Given the description of an element on the screen output the (x, y) to click on. 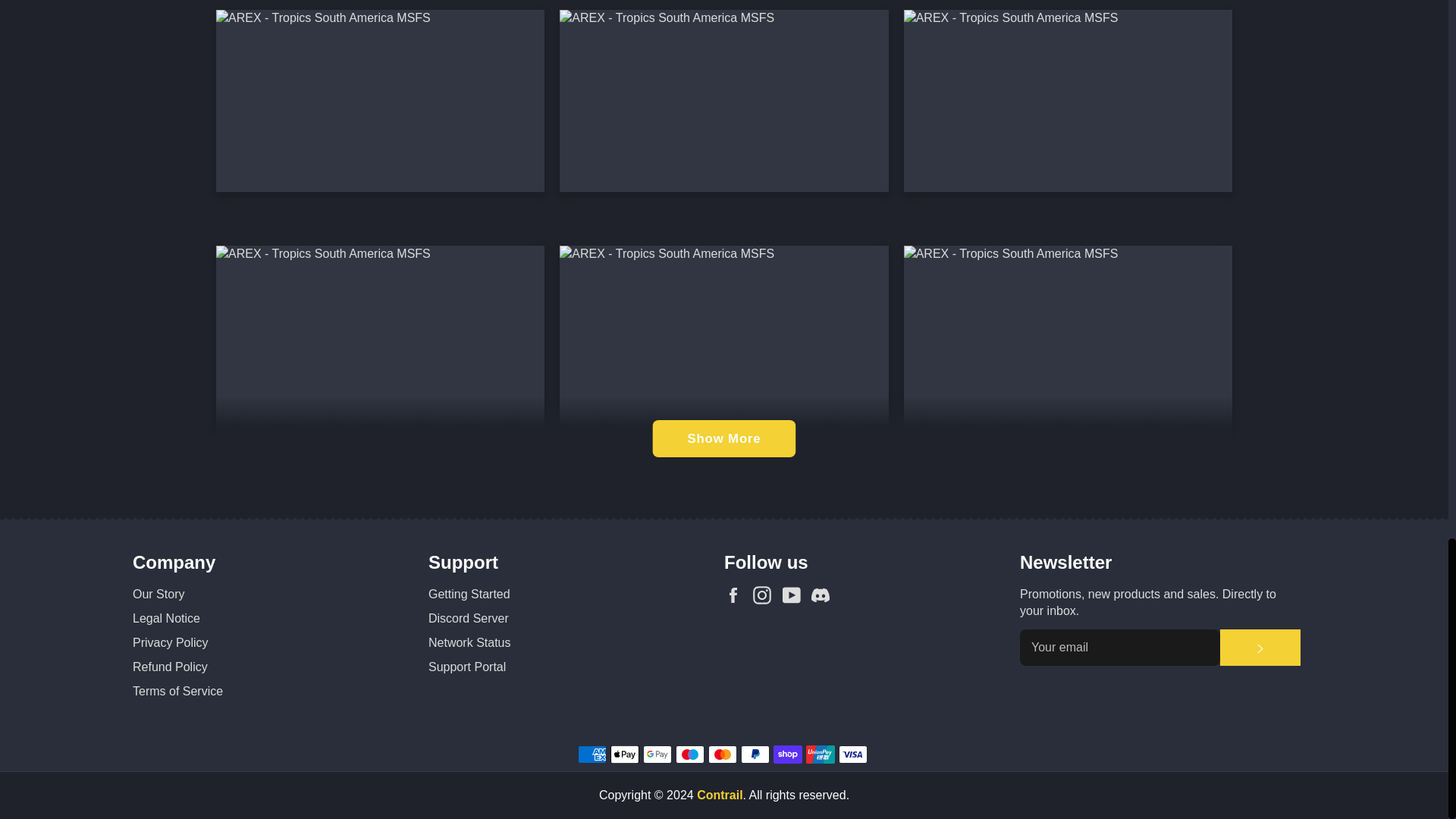
Contrail Shop on Facebook (736, 595)
Contrail Shop on YouTube (795, 595)
Contrail Shop on Instagram (765, 595)
Contrail Shop on Discord (823, 595)
